Given the description of an element on the screen output the (x, y) to click on. 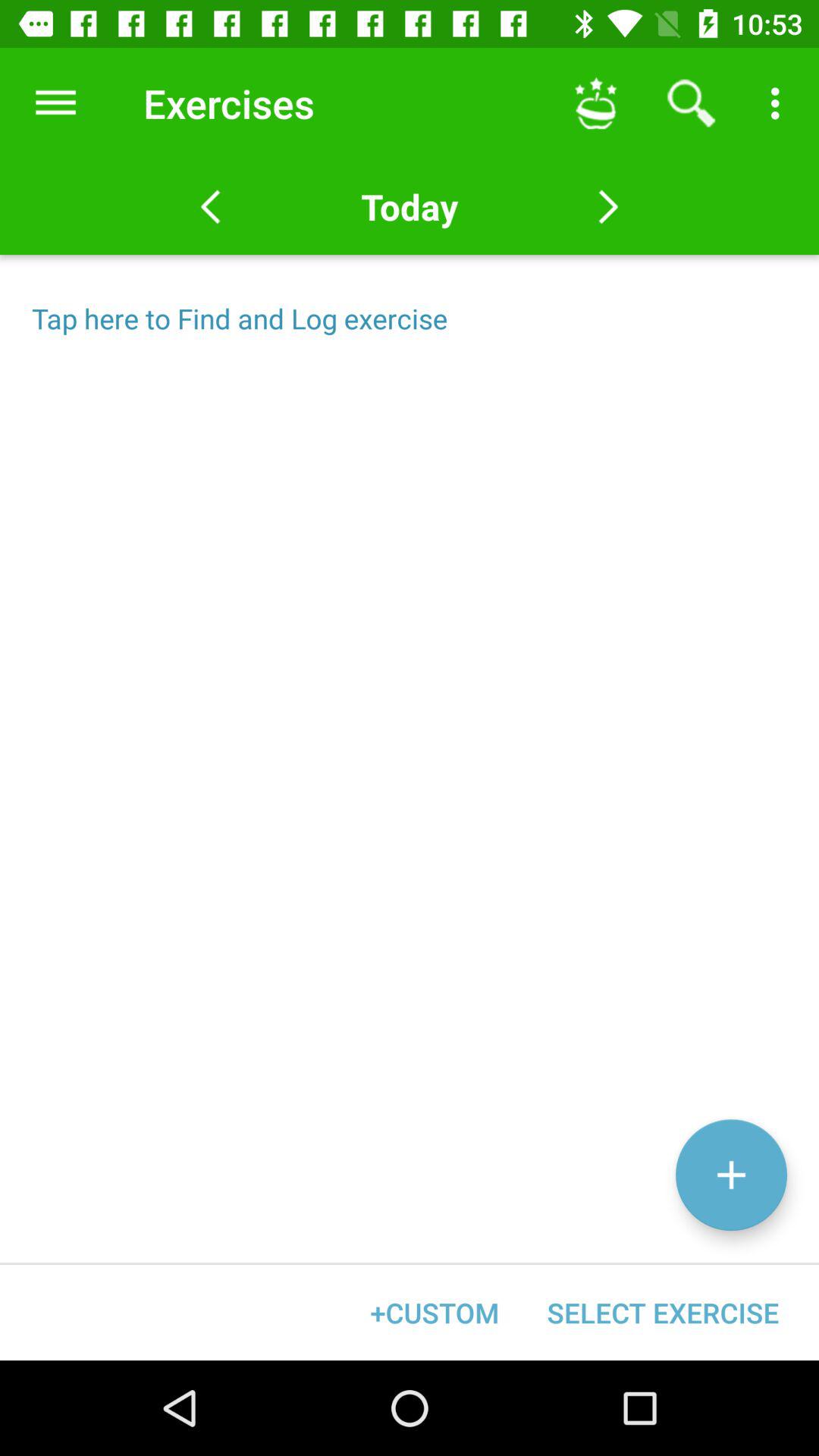
launch icon to the left of the exercises (55, 103)
